Given the description of an element on the screen output the (x, y) to click on. 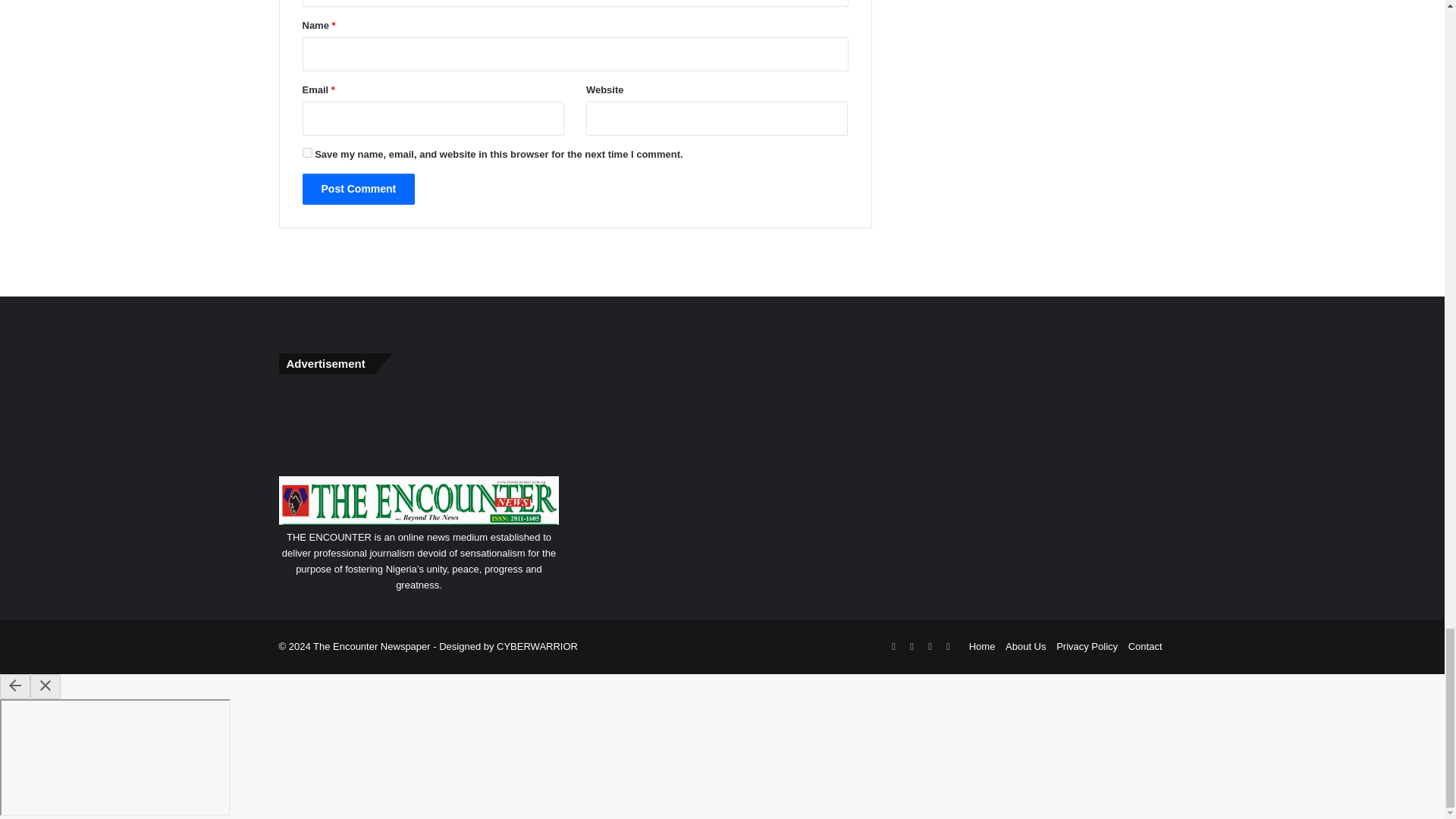
Post Comment (357, 188)
yes (306, 153)
